Given the description of an element on the screen output the (x, y) to click on. 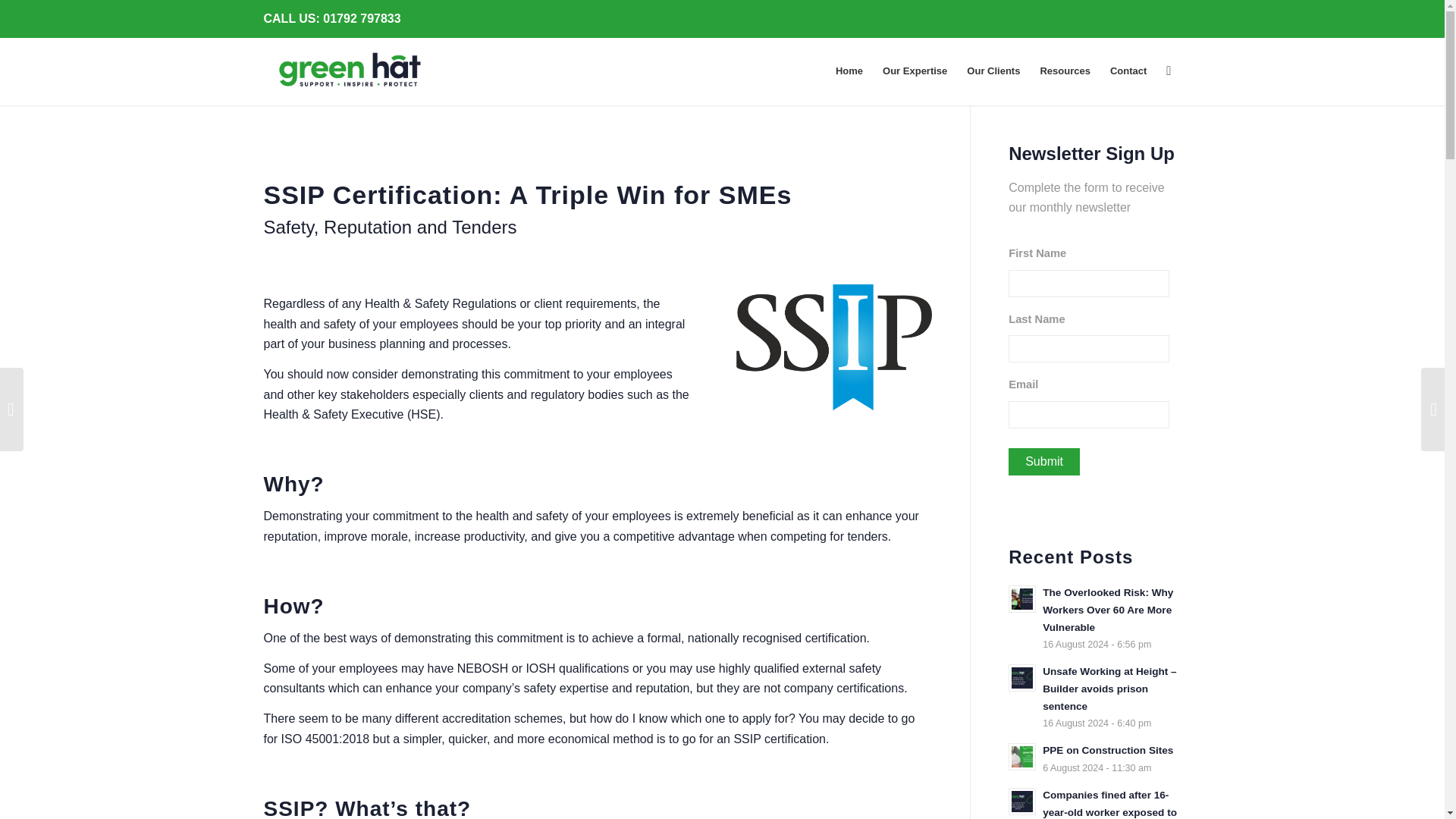
Submit (1044, 461)
Companies fined after 16-year-old worker exposed to asbestos (1094, 801)
The Overlooked Risk: Why Workers Over 60 Are More Vulnerable (1094, 617)
Submit (1044, 461)
ssiplogo (834, 347)
Our Expertise (914, 70)
Our Clients (1094, 758)
